Given the description of an element on the screen output the (x, y) to click on. 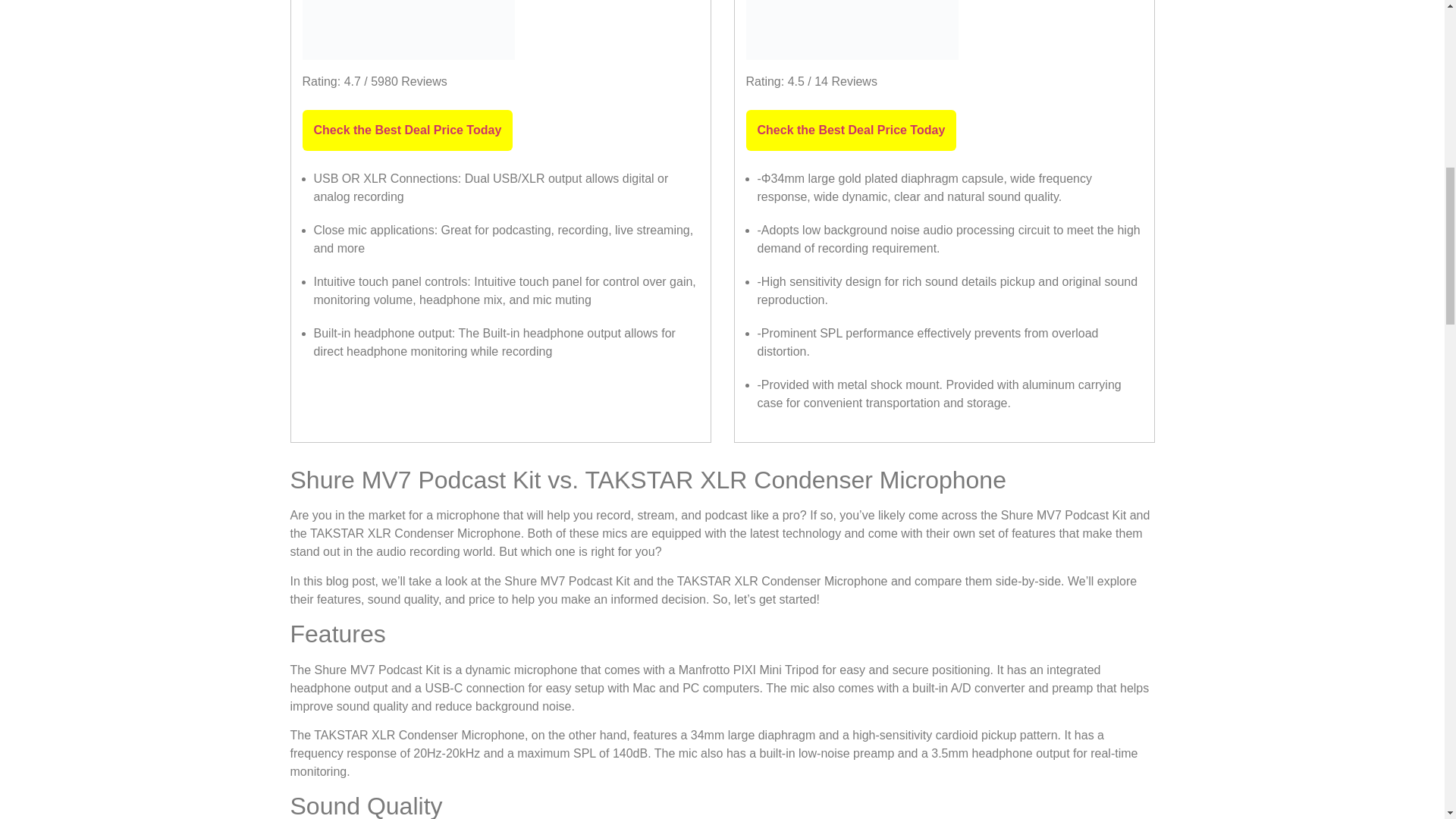
Shure MV7 VS TAKSTAR PC-K850 2 (851, 29)
Check the Best Deal Price Today (406, 129)
Check the Best Deal Price Today (850, 129)
Shure MV7 VS TAKSTAR PC-K850 1 (407, 29)
